Given the description of an element on the screen output the (x, y) to click on. 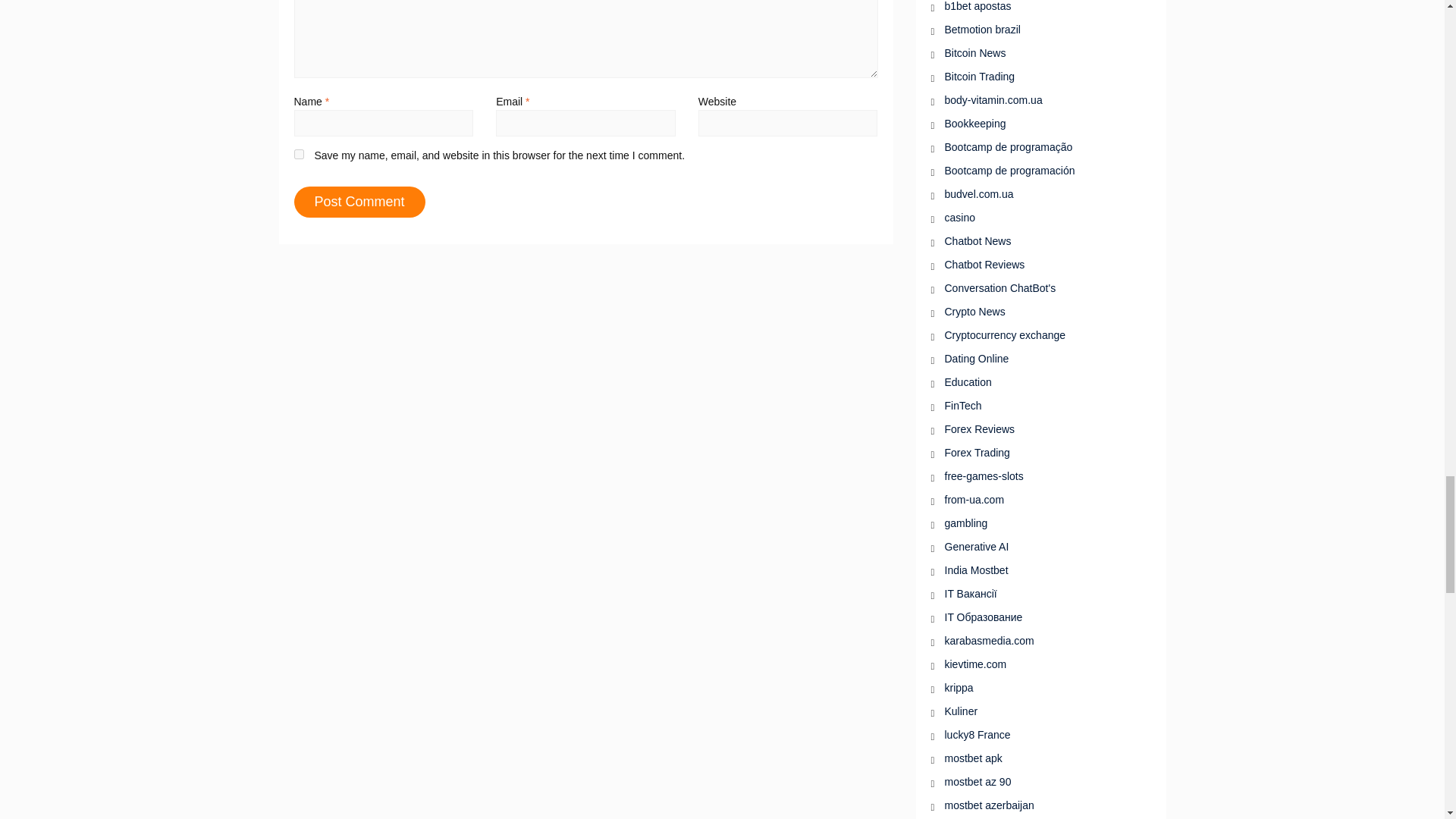
Post Comment (359, 201)
Post Comment (359, 201)
yes (299, 153)
